Given the description of an element on the screen output the (x, y) to click on. 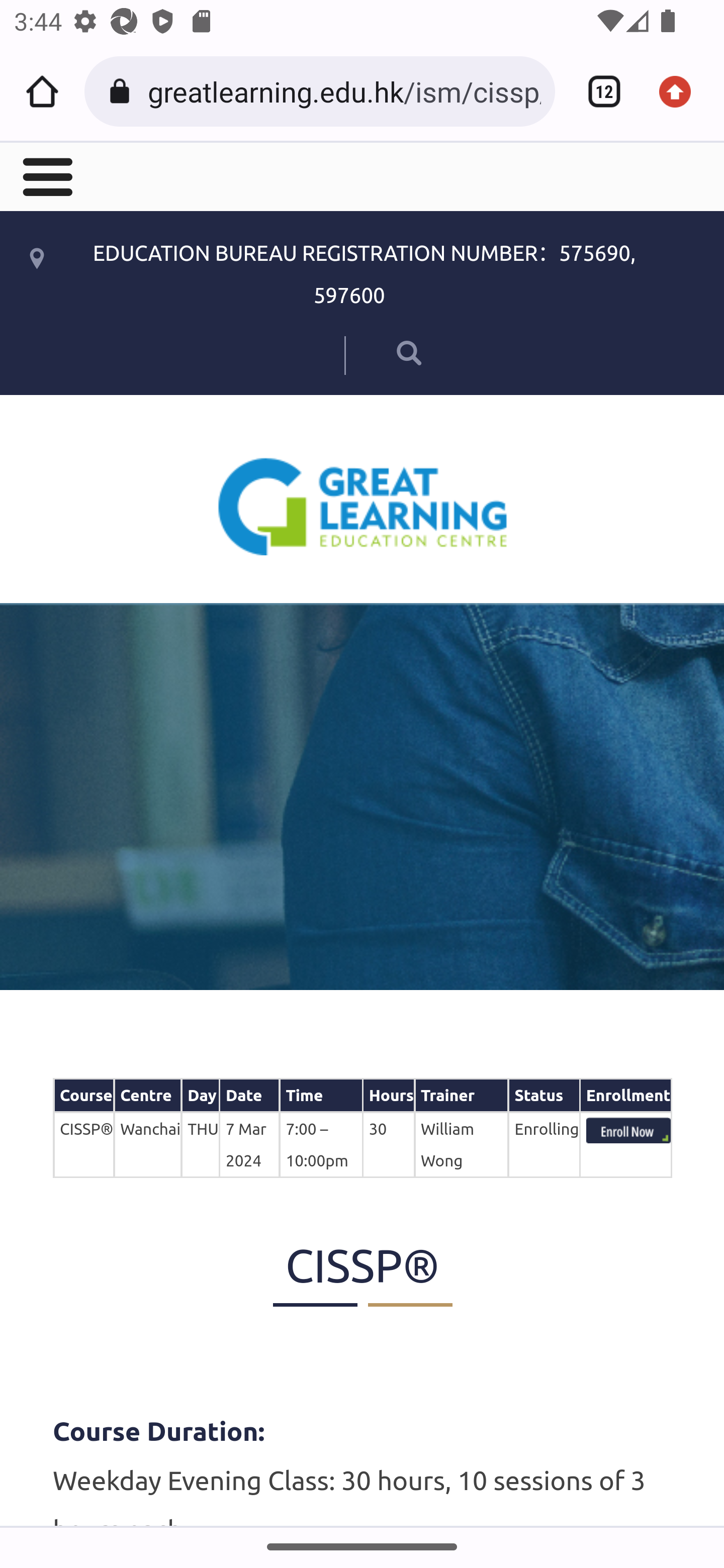
Home (42, 91)
Connection is secure (122, 91)
Switch or close tabs (597, 91)
Update available. More options (681, 91)
 (45, 175)
 (382, 351)
Welcome to Great Learning Education Centre (362, 505)
index (627, 1130)
